Given the description of an element on the screen output the (x, y) to click on. 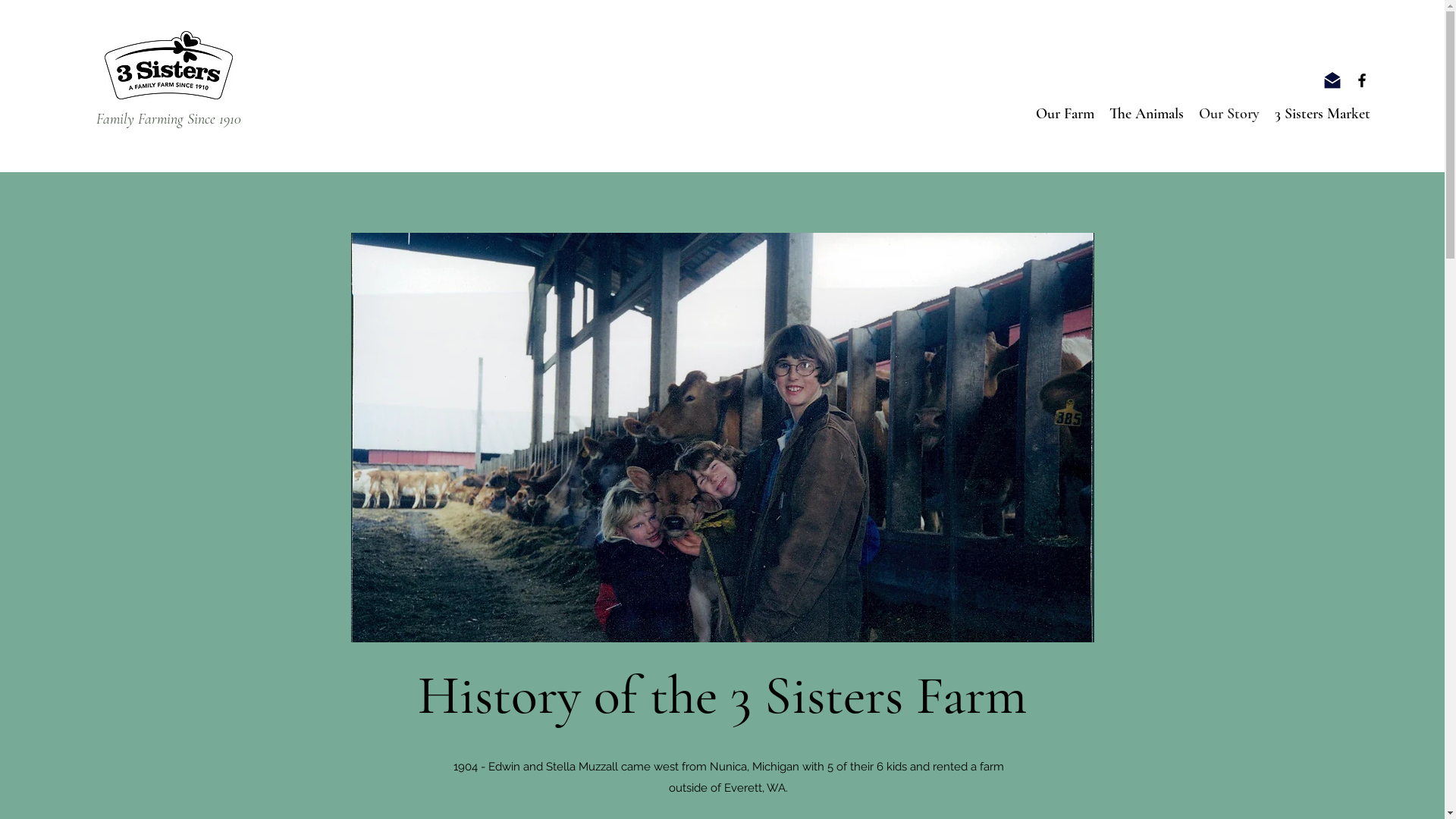
Our Farm Element type: text (1064, 113)
The Animals Element type: text (1146, 113)
Our Story Element type: text (1229, 113)
Family Farming Since 1910 Element type: text (167, 118)
3 Sisters Market Element type: text (1322, 113)
